Given the description of an element on the screen output the (x, y) to click on. 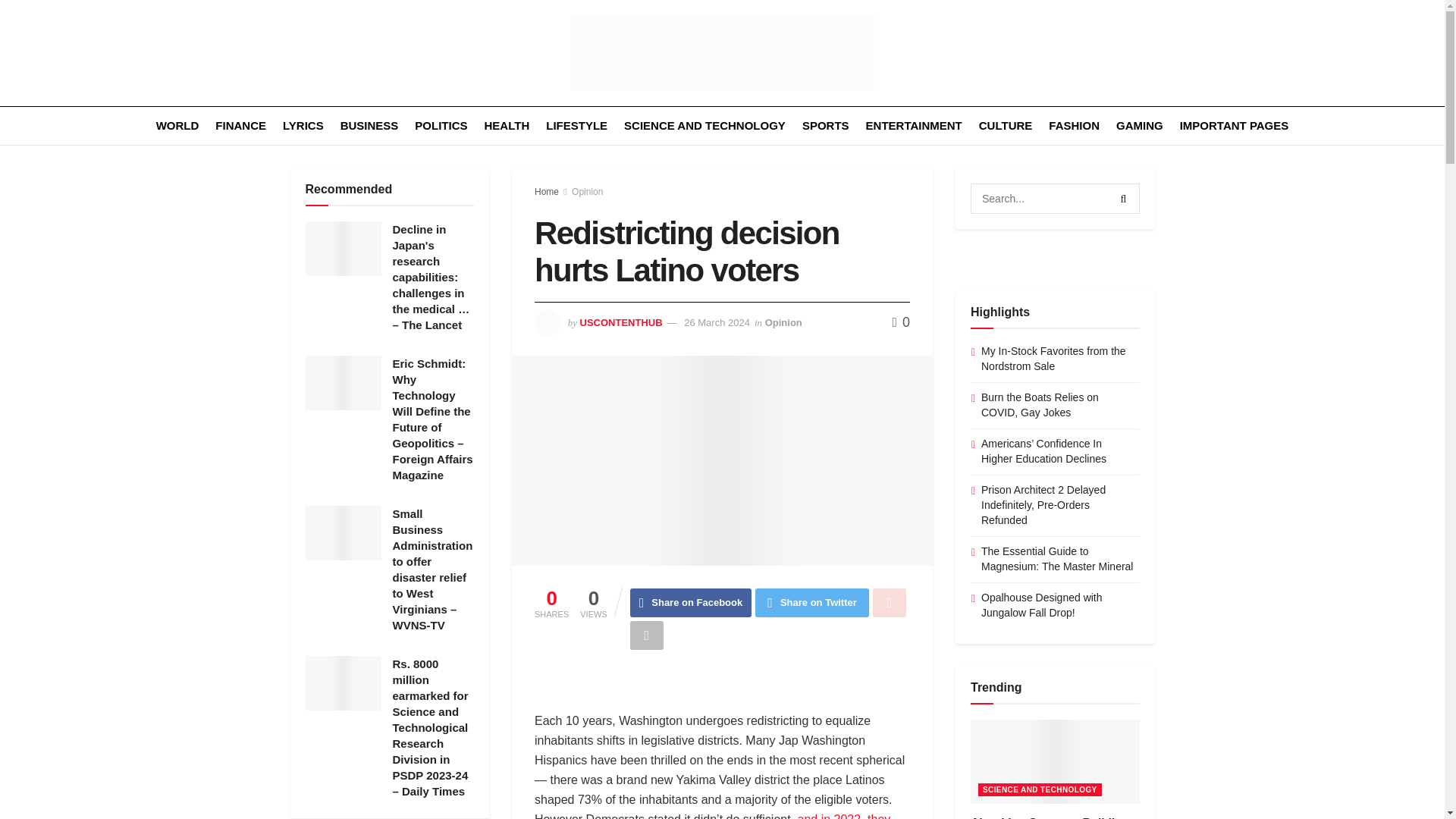
FASHION (1073, 125)
LIFESTYLE (576, 125)
HEALTH (506, 125)
LYRICS (302, 125)
POLITICS (440, 125)
USCONTENTHUB (620, 322)
Opinion (587, 191)
Share on Facebook (691, 602)
SCIENCE AND TECHNOLOGY (705, 125)
WORLD (177, 125)
SPORTS (825, 125)
Opinion (783, 322)
ENTERTAINMENT (914, 125)
Home (546, 191)
and in 2022, they sued (711, 816)
